Given the description of an element on the screen output the (x, y) to click on. 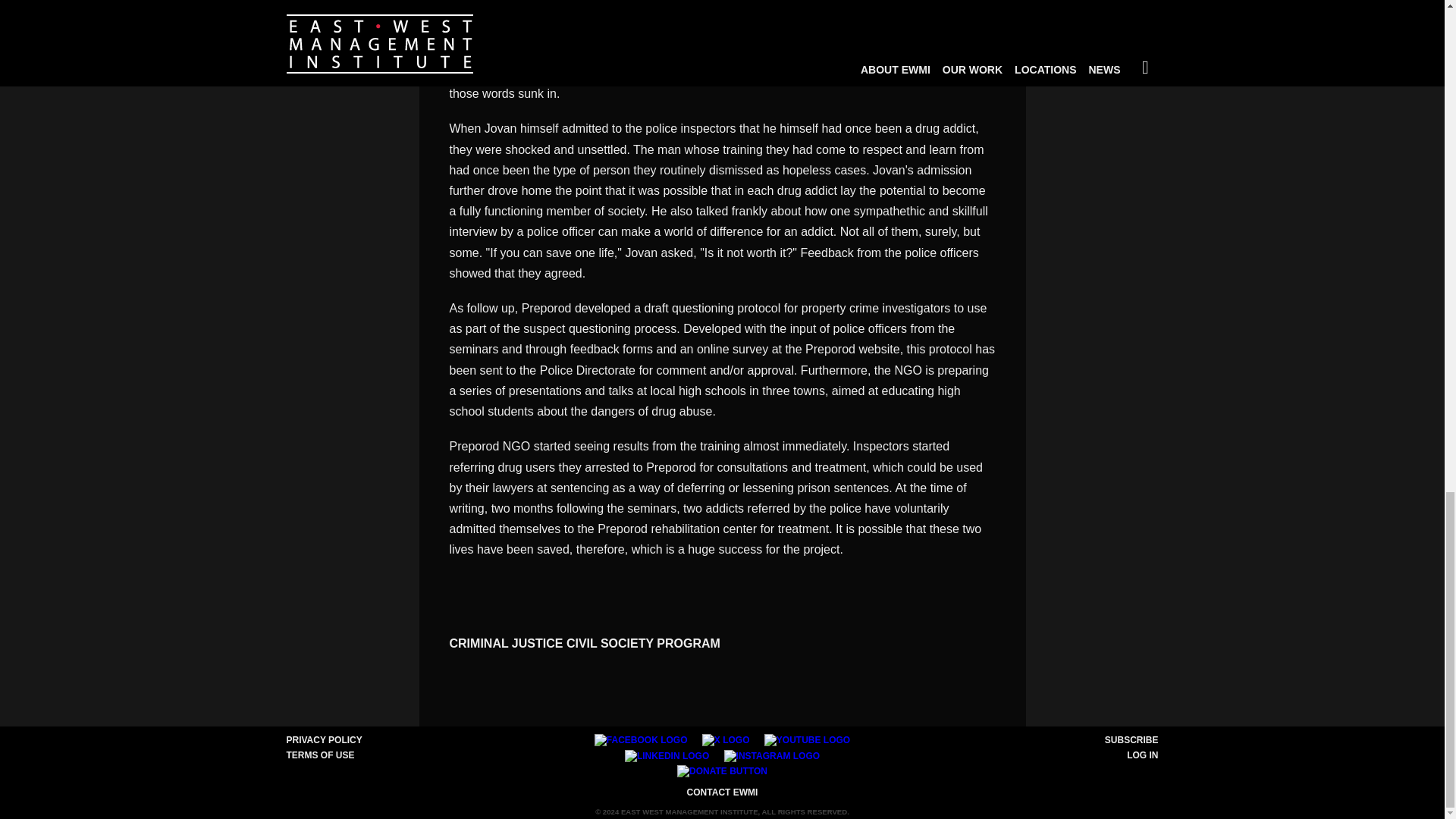
SUBSCRIBE (1131, 739)
PRIVACY POLICY (324, 739)
TERMS OF USE (320, 755)
CRIMINAL JUSTICE CIVIL SOCIETY PROGRAM (583, 643)
LOG IN (1141, 755)
CONTACT EWMI (722, 792)
